Given the description of an element on the screen output the (x, y) to click on. 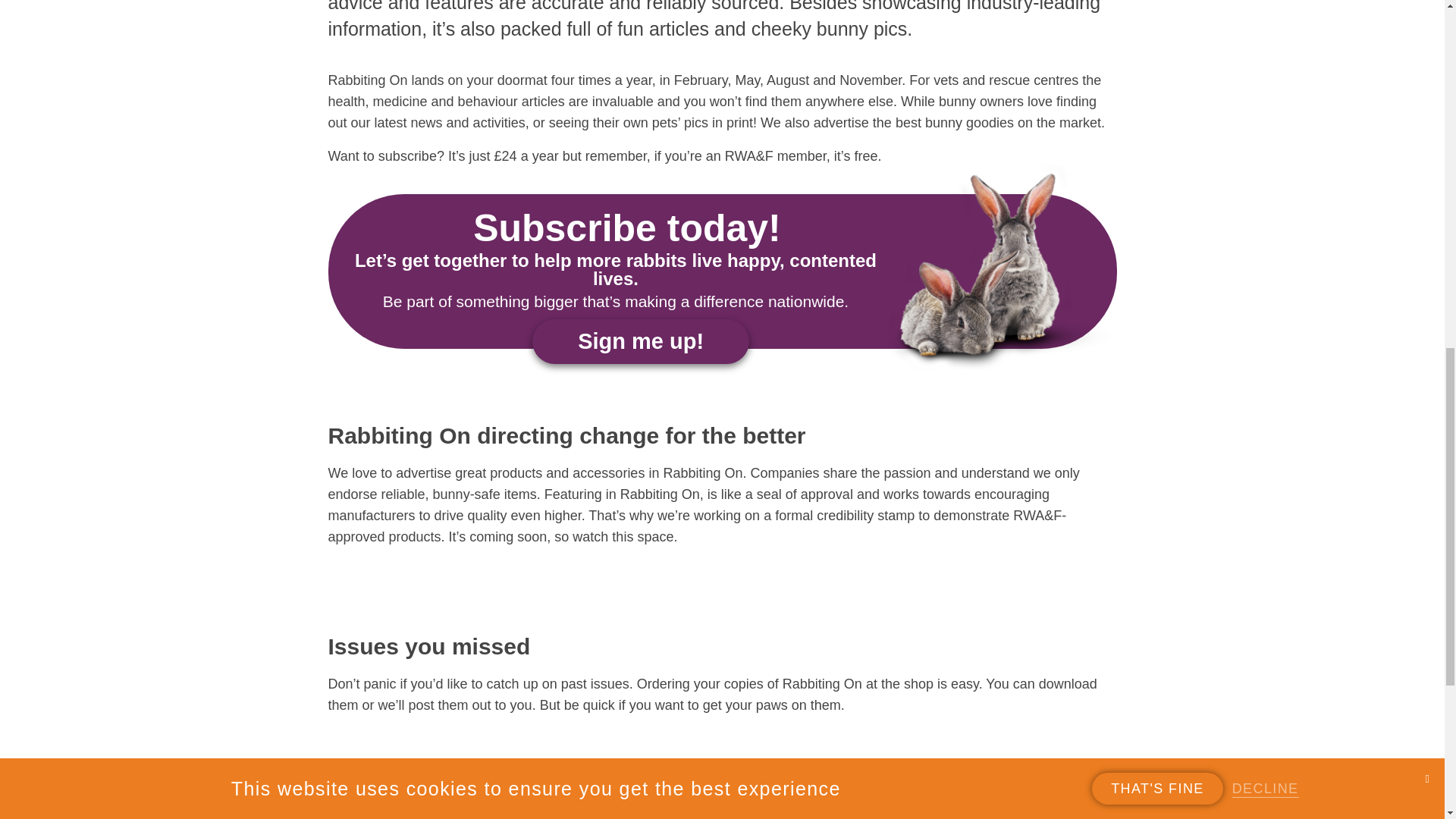
Rabbit Silhouette (319, 803)
